Given the description of an element on the screen output the (x, y) to click on. 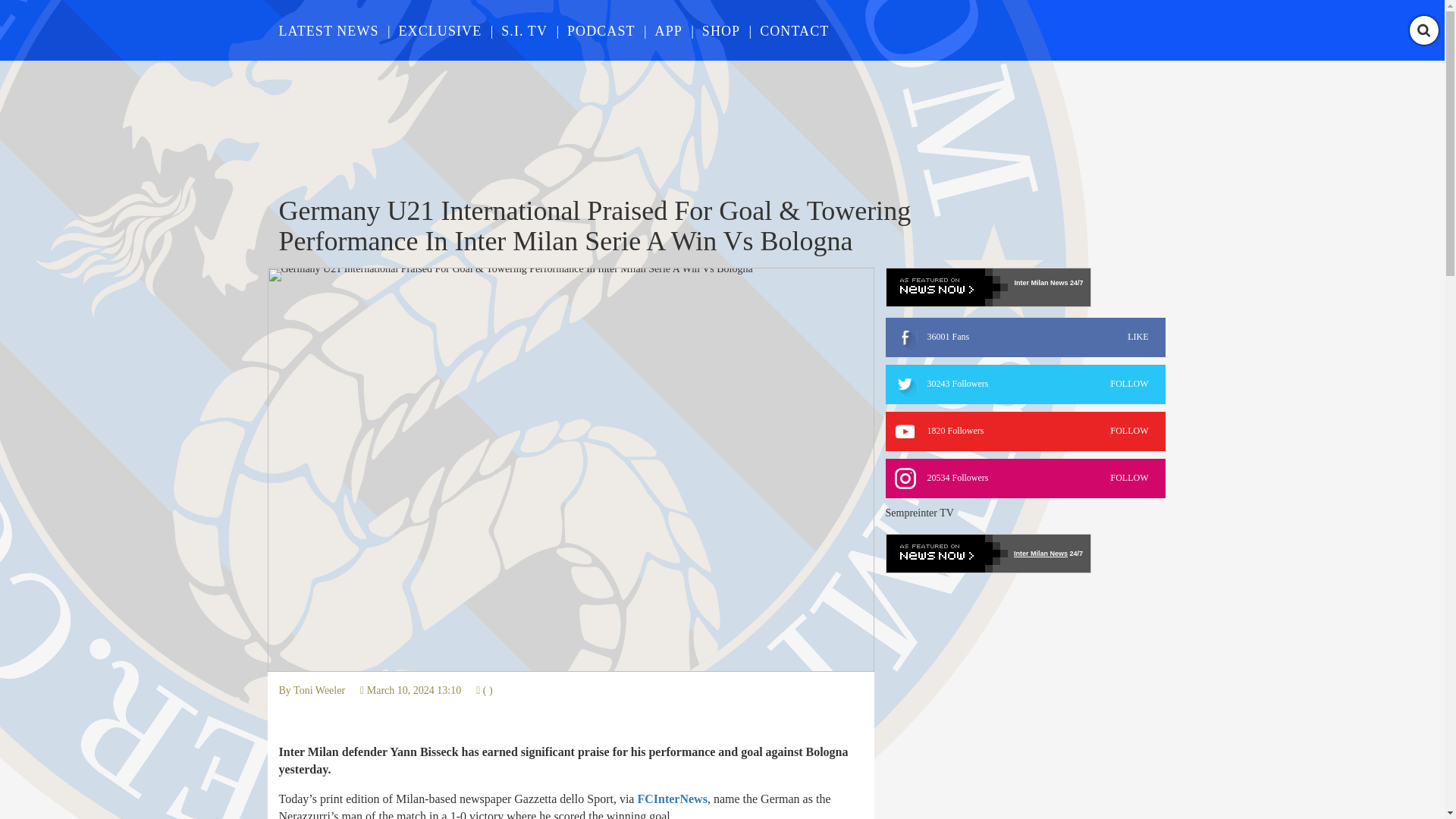
Toni Weeler (319, 690)
CONTACT (1025, 384)
Click here for more Inter Milan News from NewsNow (794, 30)
Click here for more Inter Milan News from NewsNow (987, 287)
APP (987, 553)
Inter Milan News (1025, 477)
SHOP (668, 30)
S.I. TV (1040, 553)
FCInterNews (1025, 431)
EXCLUSIVE (720, 30)
LATEST NEWS (523, 30)
View more articles by Toni Weeler (671, 798)
